Given the description of an element on the screen output the (x, y) to click on. 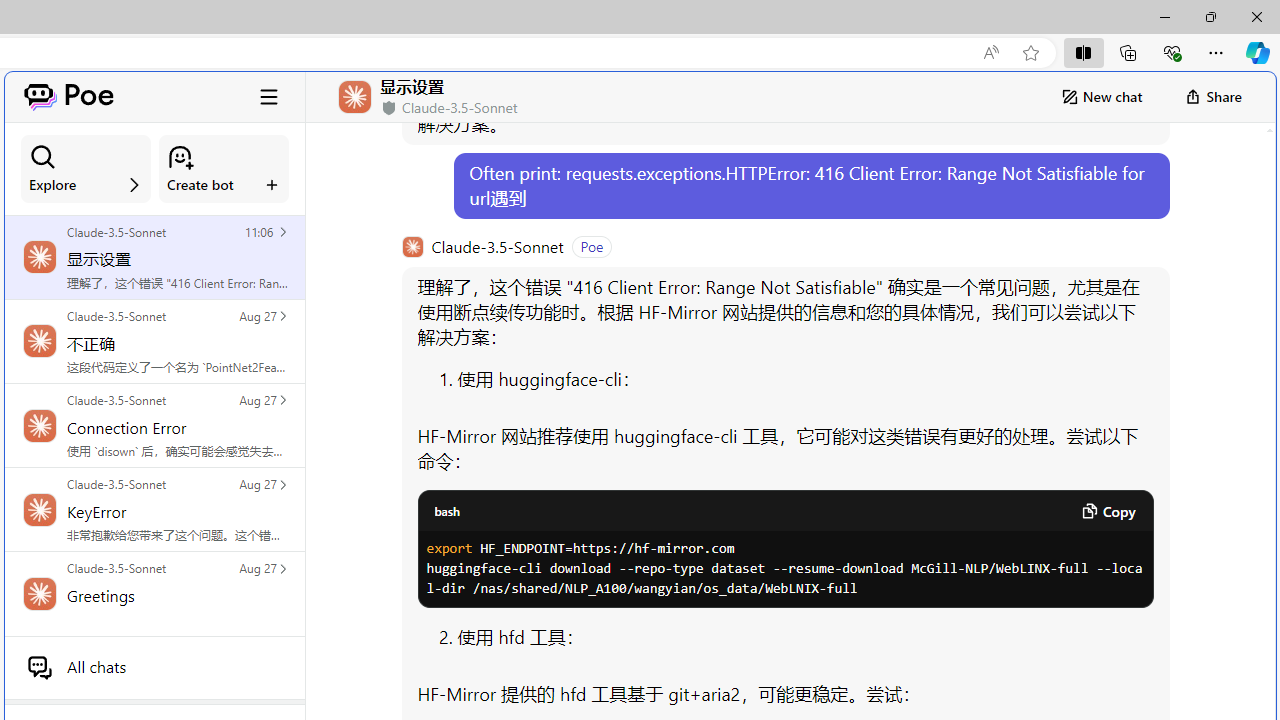
All chats (154, 667)
New chat (1101, 96)
Poe (68, 96)
